Given the description of an element on the screen output the (x, y) to click on. 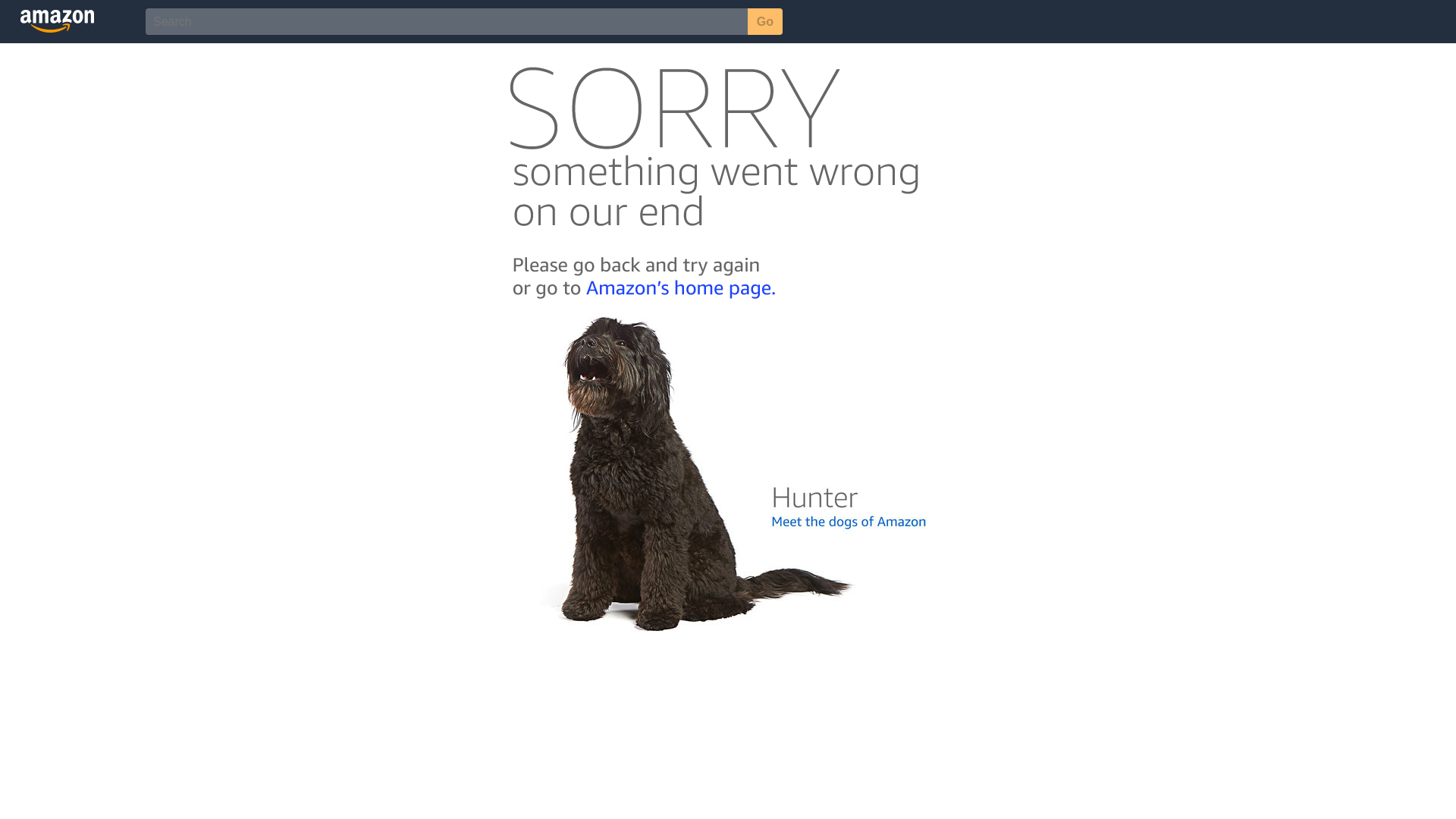
Go (765, 21)
Go (765, 21)
